Given the description of an element on the screen output the (x, y) to click on. 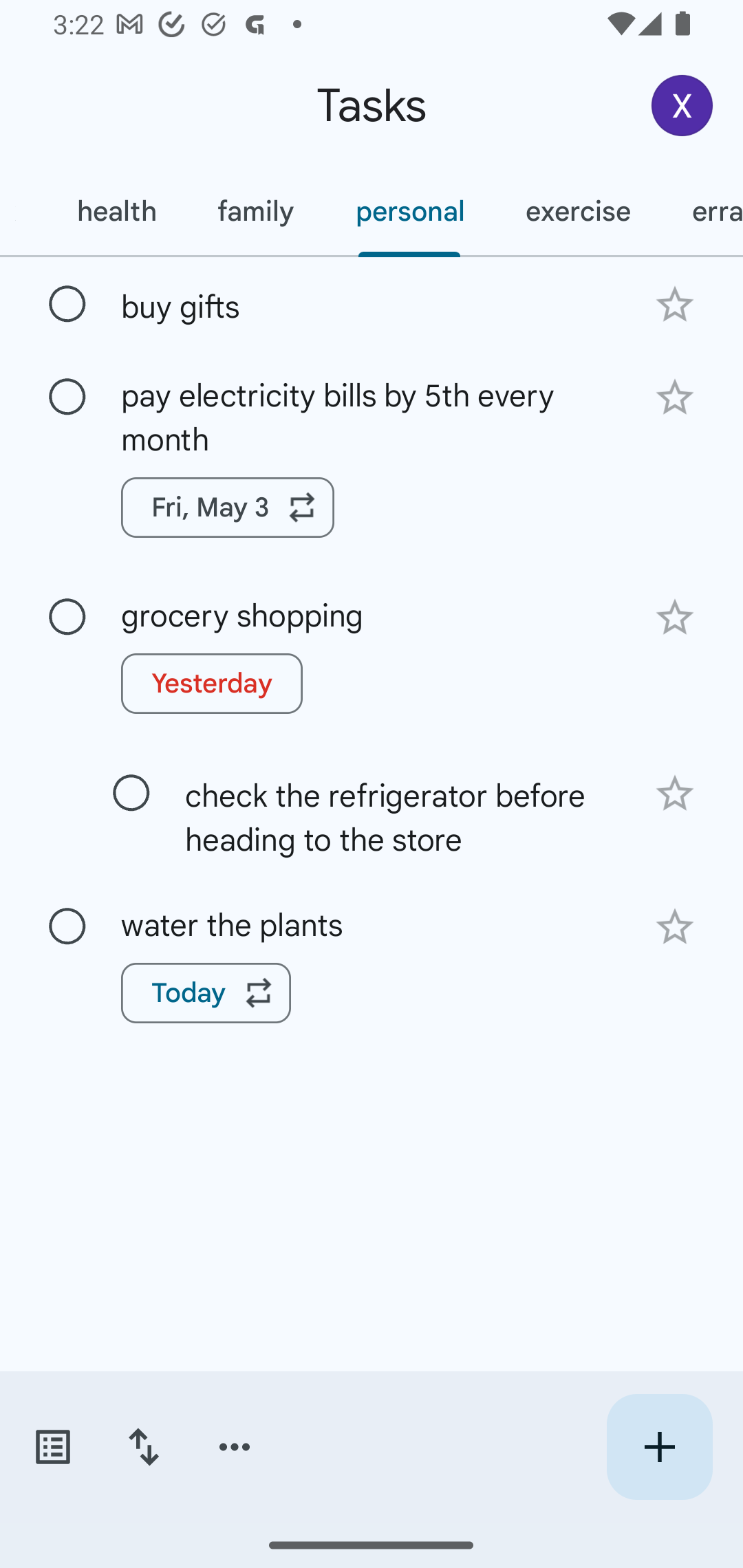
health (116, 211)
family (255, 211)
exercise (577, 211)
errands (702, 211)
buy gifts buy gifts Add star Mark as complete (371, 303)
Add star (674, 303)
Mark as complete (67, 304)
Add star (674, 397)
Mark as complete (67, 397)
Fri, May 3 (227, 507)
Add star (674, 617)
Mark as complete (67, 616)
Yesterday (211, 683)
Add star (674, 792)
Mark as complete (131, 793)
Add star (674, 926)
Mark as complete (67, 927)
Today (206, 992)
Switch task lists (52, 1447)
Create new task (659, 1446)
Change sort order (143, 1446)
More options (234, 1446)
